Given the description of an element on the screen output the (x, y) to click on. 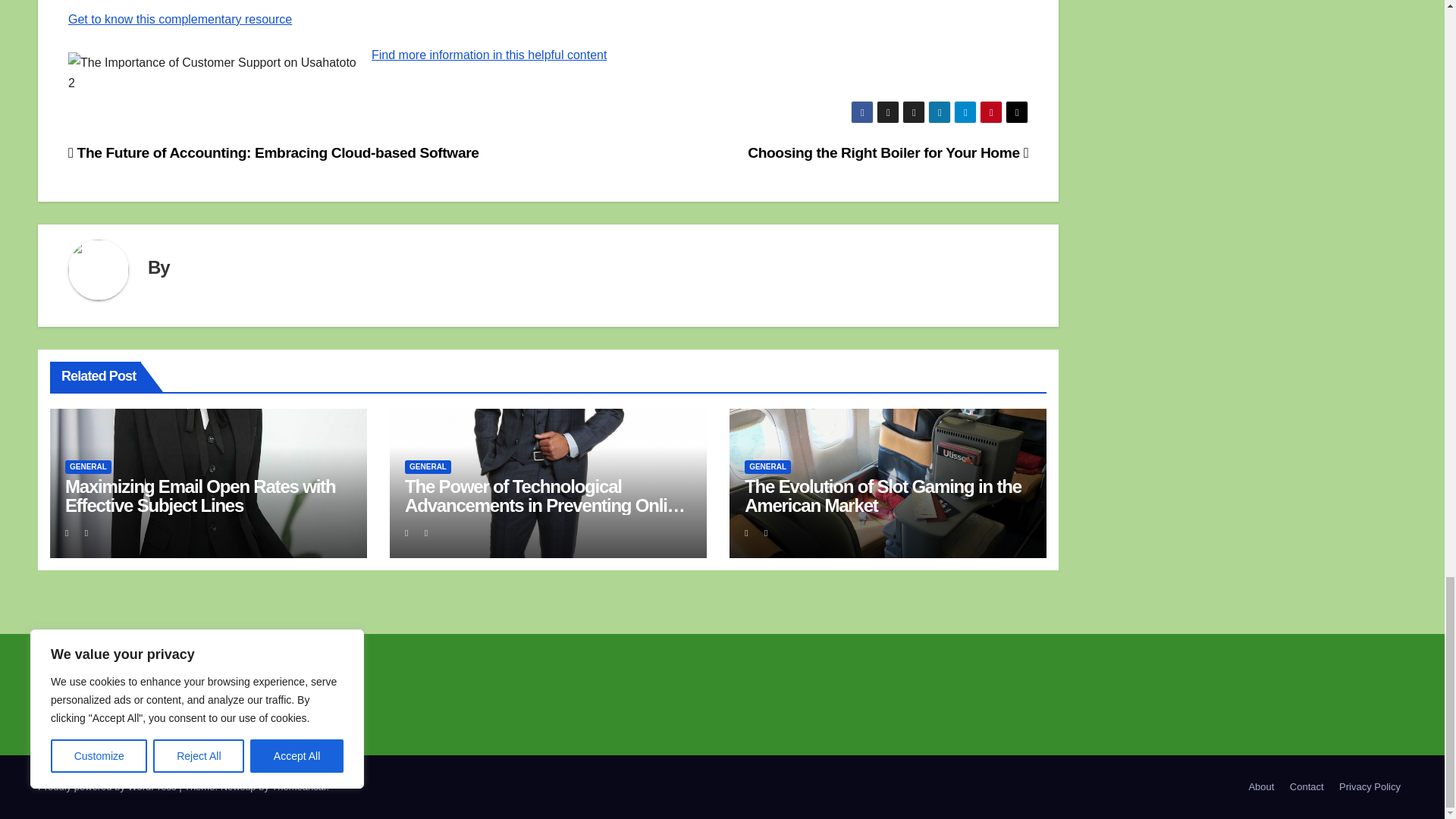
Privacy Policy (1369, 786)
Contact (1307, 786)
Find more information in this helpful content (489, 54)
About (1260, 786)
Get to know this complementary resource (180, 19)
